Given the description of an element on the screen output the (x, y) to click on. 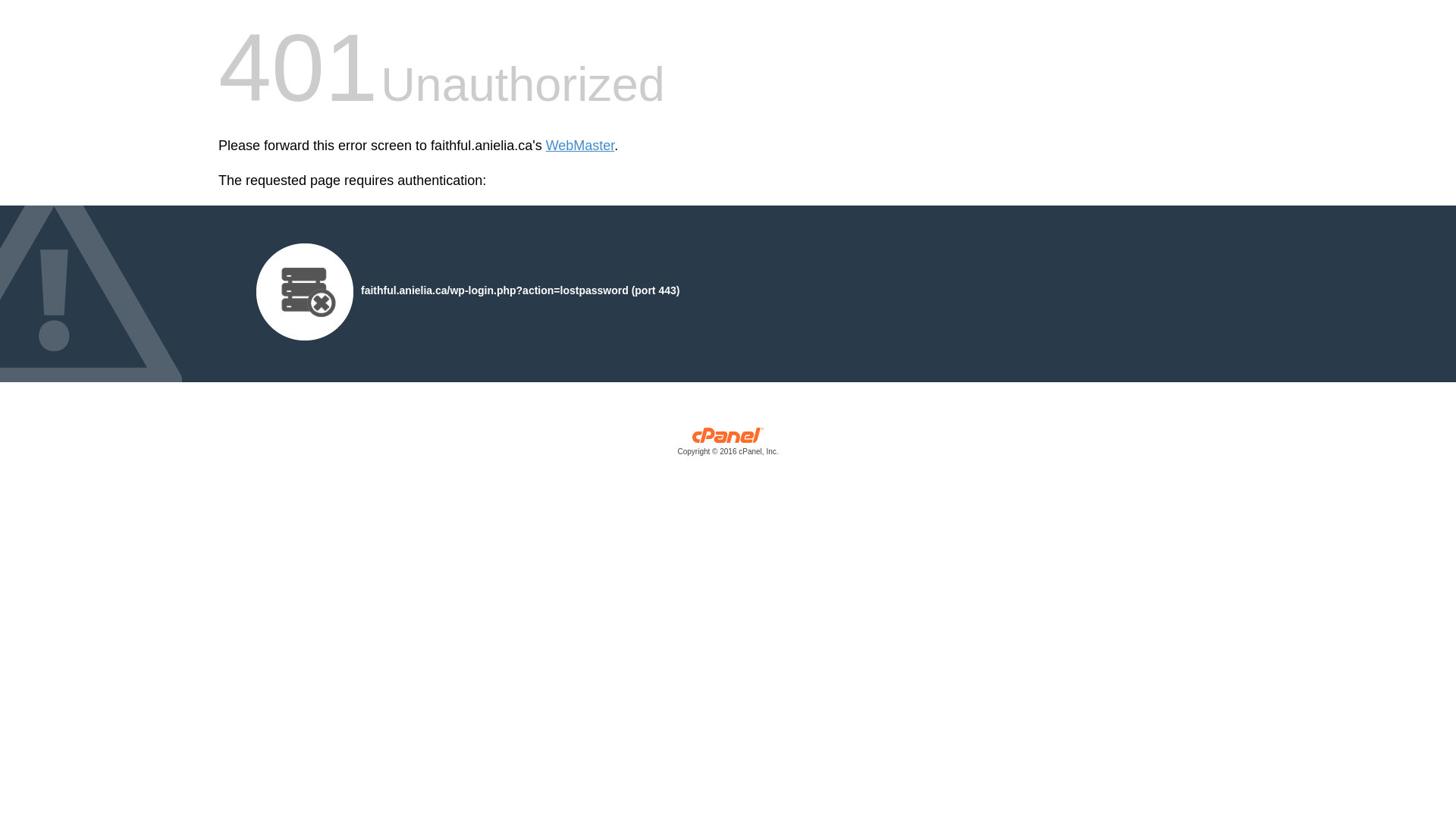
WebMaster Element type: text (580, 145)
